Given the description of an element on the screen output the (x, y) to click on. 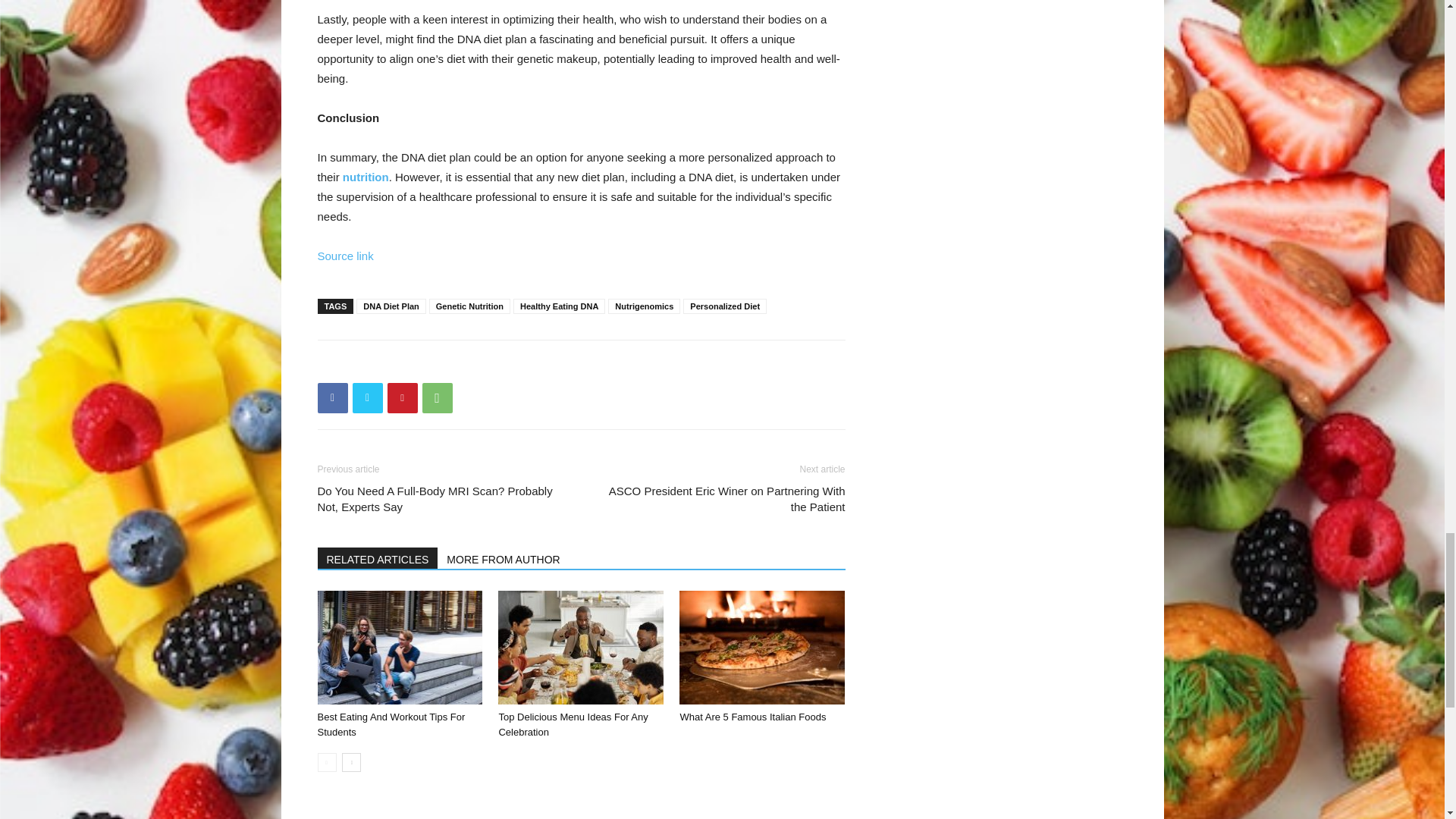
Facebook (332, 398)
Healthy Eating DNA (559, 305)
nutrition (365, 176)
Twitter (366, 398)
Best Eating And Workout Tips For Students (390, 724)
Pinterest (401, 398)
Nutrigenomics (643, 305)
Personalized Diet (724, 305)
WhatsApp (436, 398)
Source link (344, 255)
Genetic Nutrition (470, 305)
DNA Diet Plan (391, 305)
bottomFacebookLike (430, 364)
Best Eating And Workout Tips For Students (399, 647)
